Given the description of an element on the screen output the (x, y) to click on. 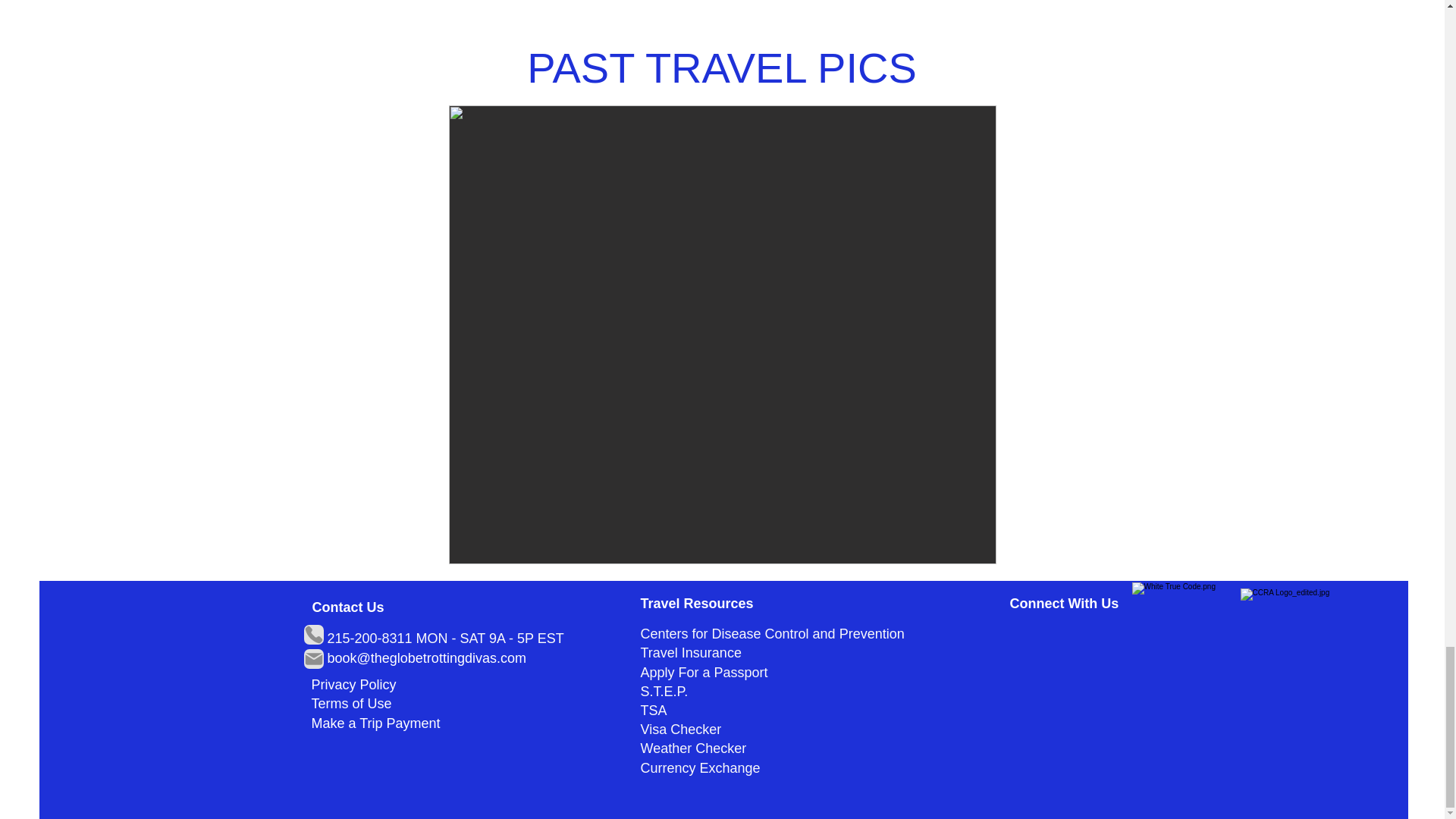
Privacy Policy (353, 684)
Centers for Disease Control and Prevention (772, 633)
Currency Exchange (700, 767)
S.T.E.P.  (665, 691)
Make a Trip Payment (375, 723)
TSA (653, 710)
Weather Checker (692, 748)
Terms of Use (351, 703)
Visa Checker (680, 729)
Travel Insurance   (694, 652)
Apply For a Passport (703, 672)
